Given the description of an element on the screen output the (x, y) to click on. 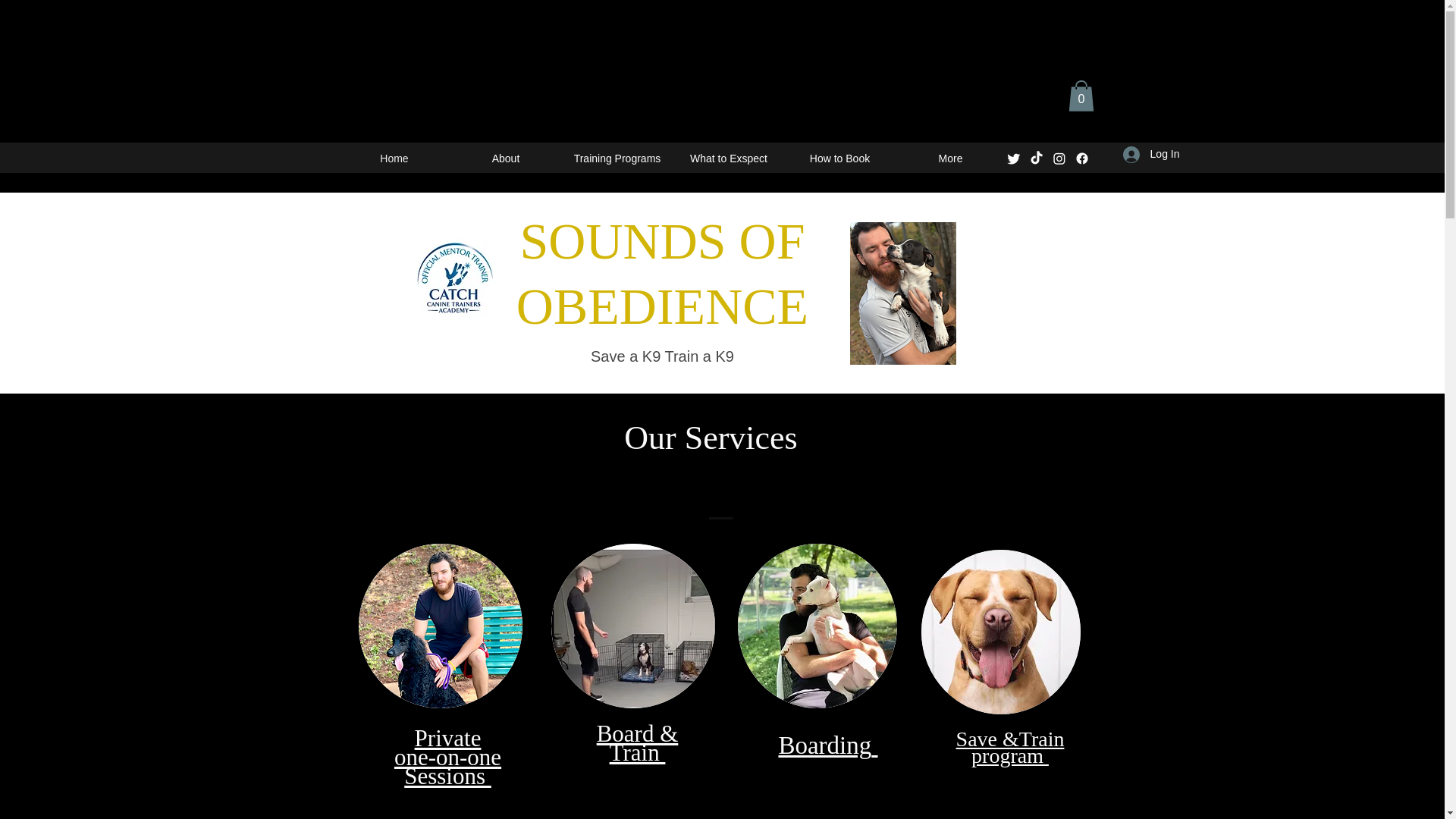
How to Book (839, 158)
guy4.jpg (632, 625)
Log In (447, 756)
guy3.jpg (1151, 154)
Boarding  (1000, 631)
Home (827, 747)
guy2.jpg (393, 158)
About (439, 625)
Training Programs (505, 158)
